Given the description of an element on the screen output the (x, y) to click on. 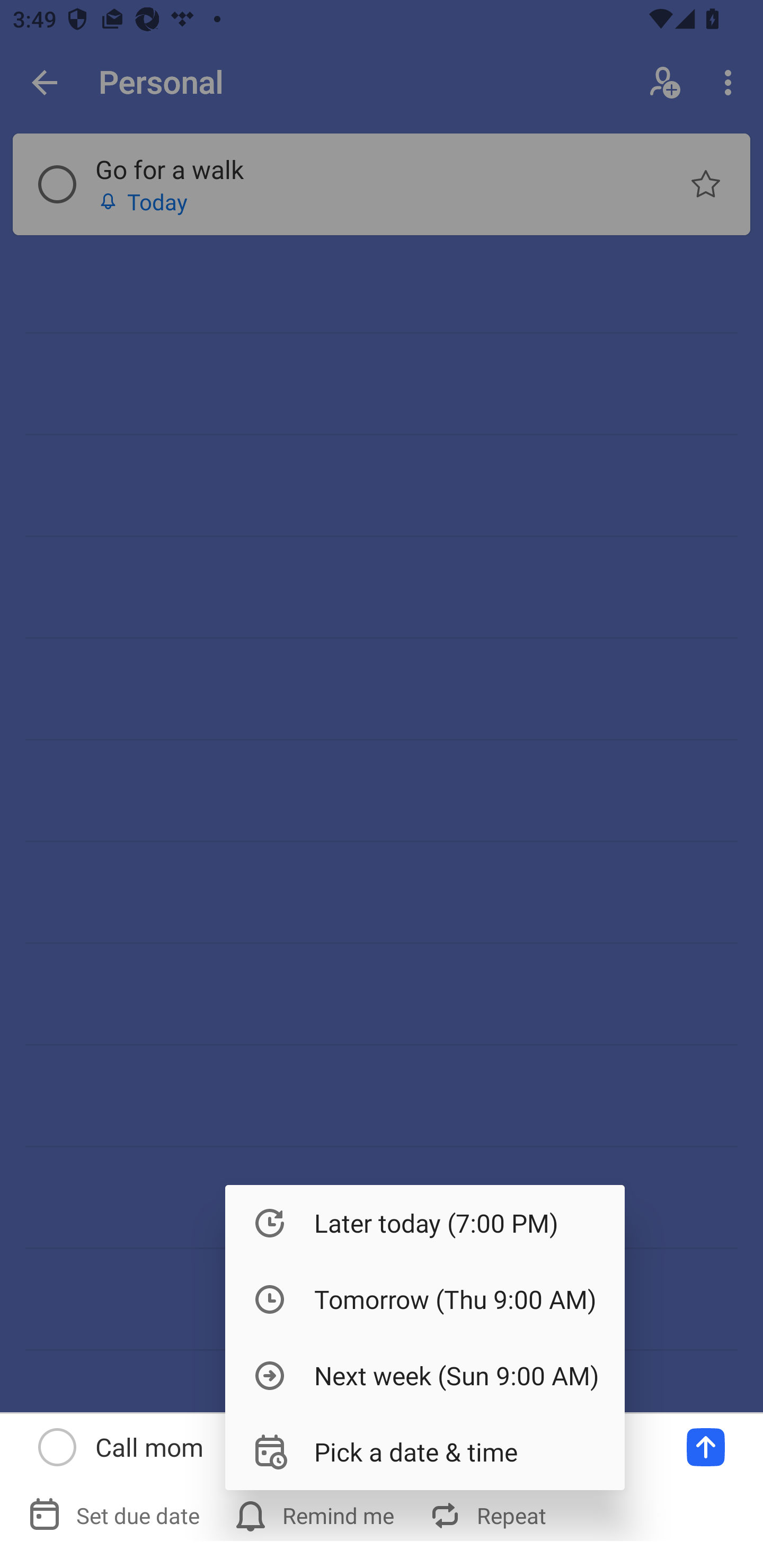
Pick a date & time4 in 4 Pick a date & time (424, 1451)
